Given the description of an element on the screen output the (x, y) to click on. 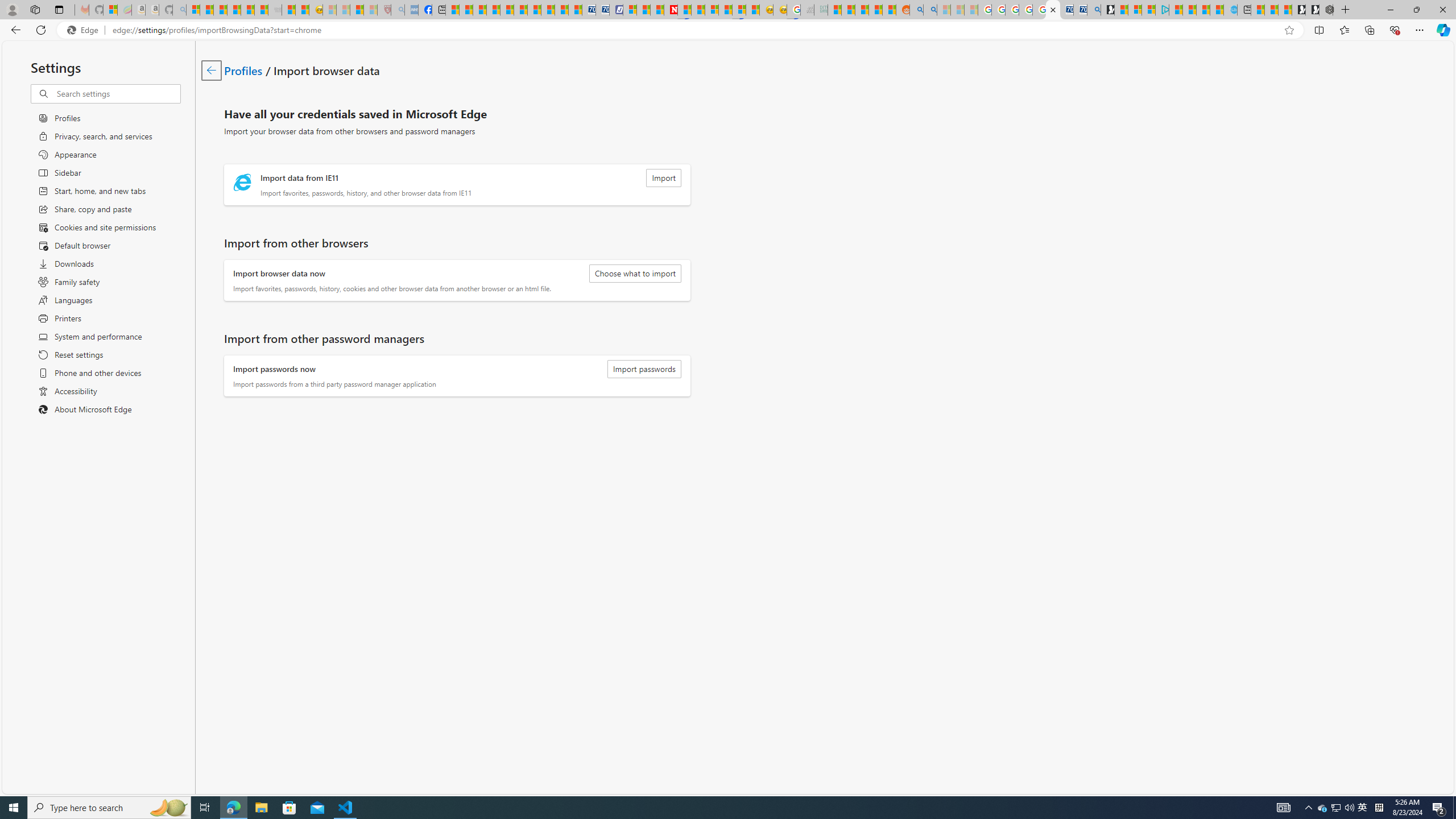
Climate Damage Becomes Too Severe To Reverse (493, 9)
Profiles (243, 69)
New Report Confirms 2023 Was Record Hot | Watch (247, 9)
12 Popular Science Lies that Must be Corrected - Sleeping (369, 9)
Combat Siege - Sleeping (274, 9)
Search settings (117, 93)
